Given the description of an element on the screen output the (x, y) to click on. 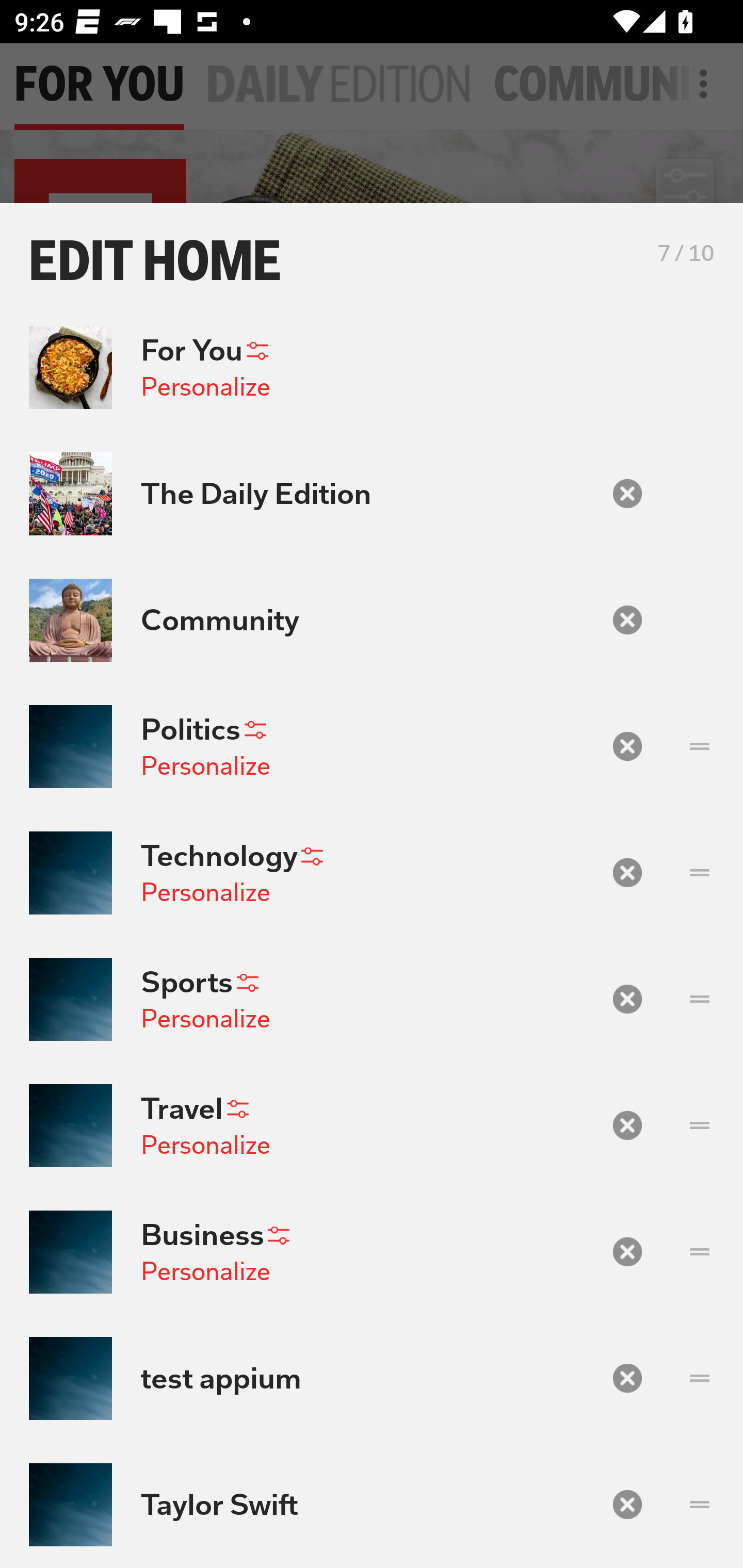
Personalize (205, 387)
Personalize (205, 765)
Personalize (205, 891)
Personalize (205, 1018)
Personalize (205, 1144)
Personalize (205, 1271)
